Given the description of an element on the screen output the (x, y) to click on. 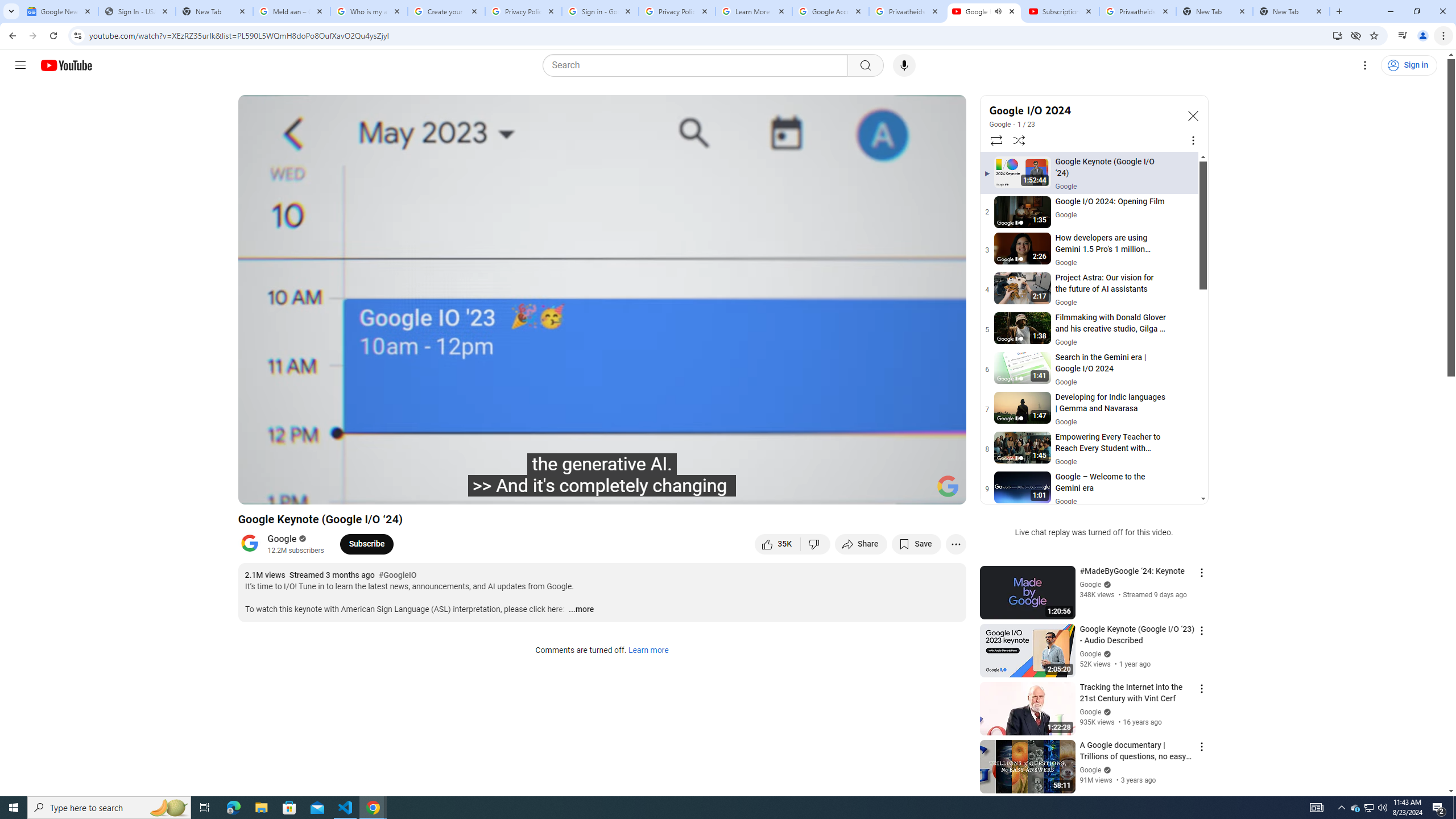
Share (861, 543)
New Tab (213, 11)
Collapse (1192, 115)
Mute tab (997, 10)
Seek slider (601, 476)
like this video along with 35,367 other people (777, 543)
Learn more (647, 650)
Verified (1106, 769)
Loop playlist (995, 140)
